Given the description of an element on the screen output the (x, y) to click on. 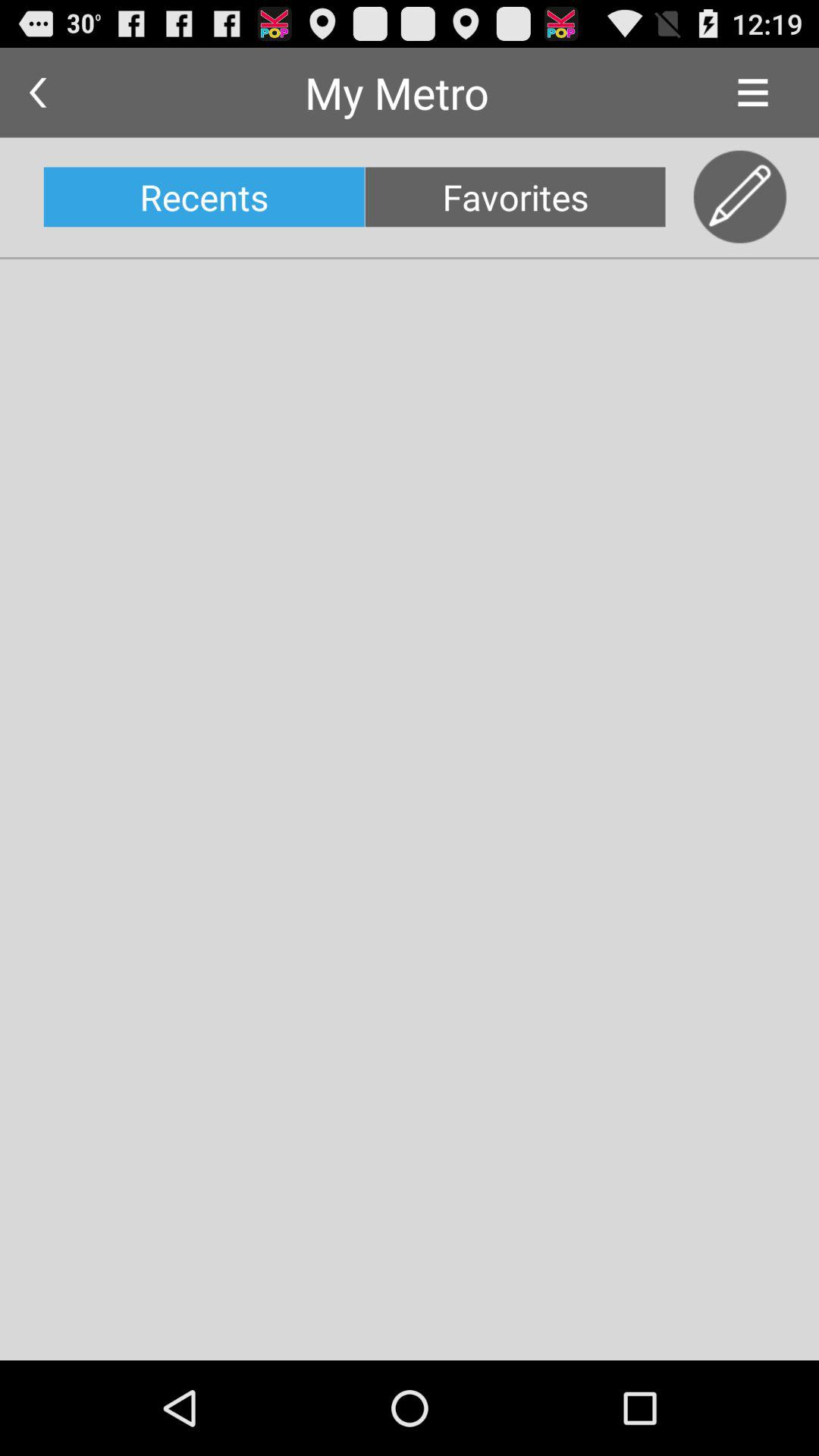
select item below my metro icon (515, 196)
